Given the description of an element on the screen output the (x, y) to click on. 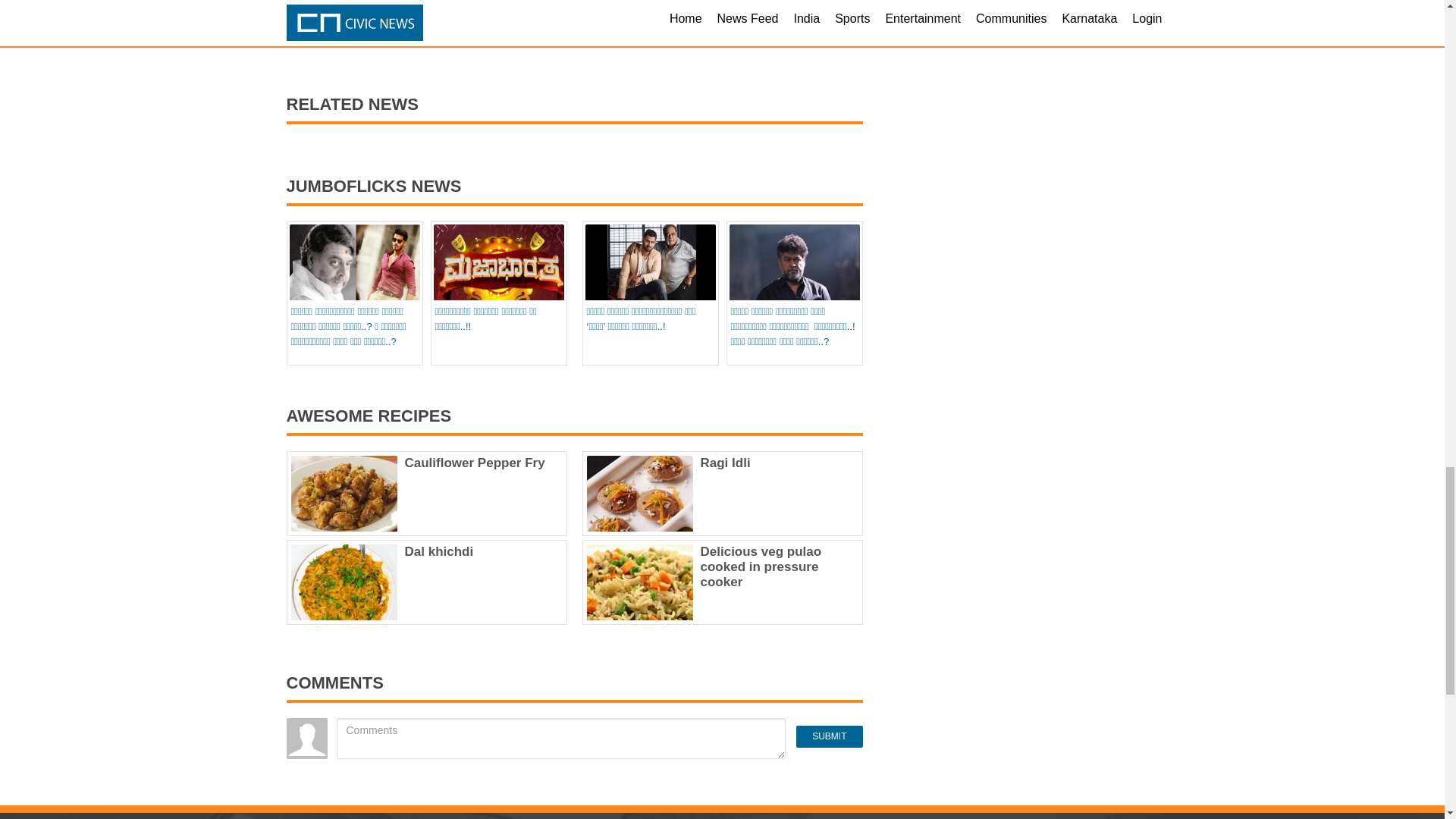
Dal khichdi (439, 551)
Ragi Idli (725, 462)
Cauliflower Pepper Fry (474, 462)
Delicious veg pulao cooked in pressure cooker (761, 566)
